Given the description of an element on the screen output the (x, y) to click on. 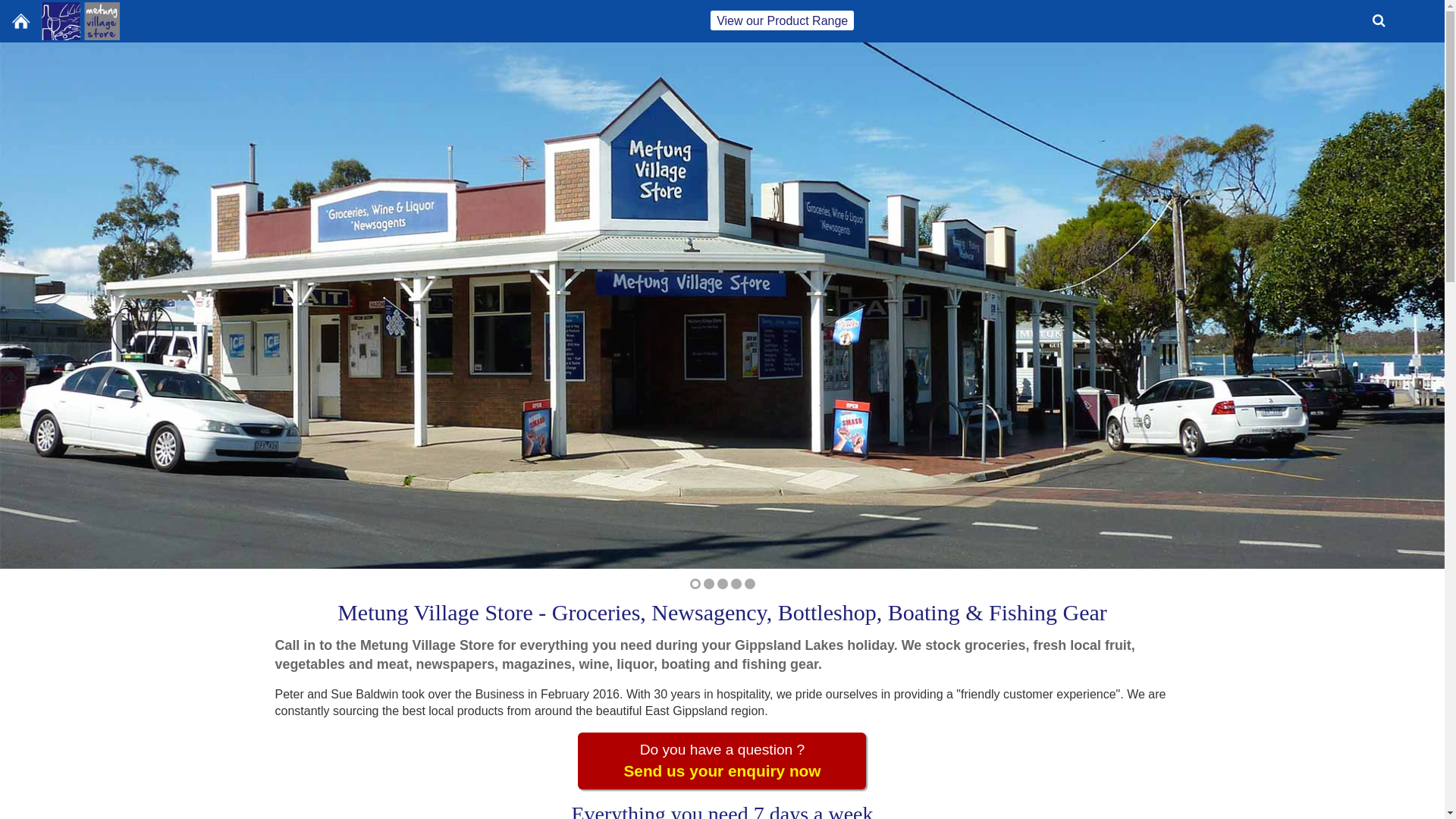
Search the Website Element type: hover (1378, 20)
Send us your enquiry now Element type: text (721, 772)
Return to the Home page Element type: hover (62, 19)
View our Product Range Element type: text (781, 20)
